Given the description of an element on the screen output the (x, y) to click on. 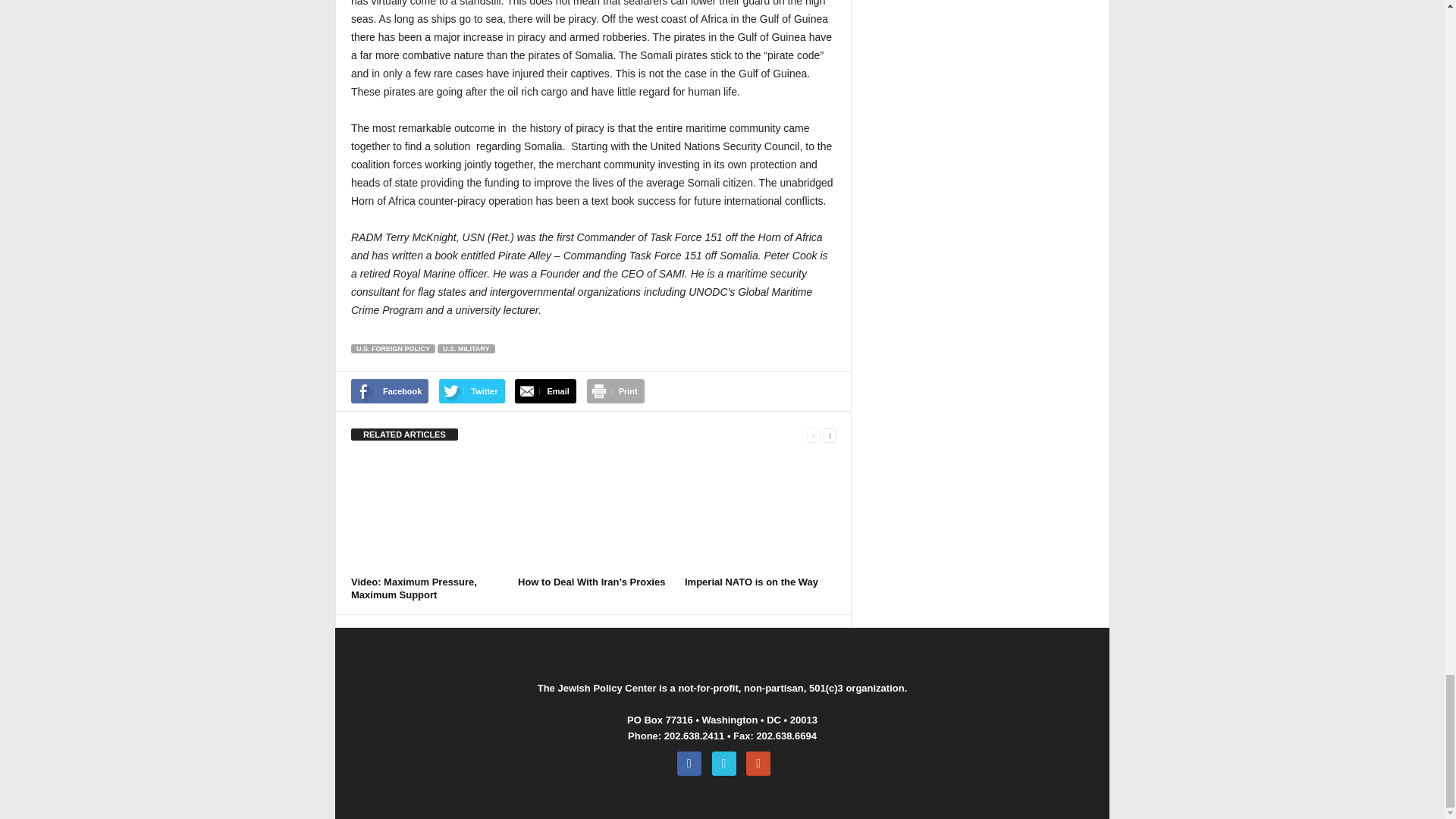
Video: Maximum Pressure, Maximum Support (426, 513)
Video: Maximum Pressure, Maximum Support (413, 588)
